Given the description of an element on the screen output the (x, y) to click on. 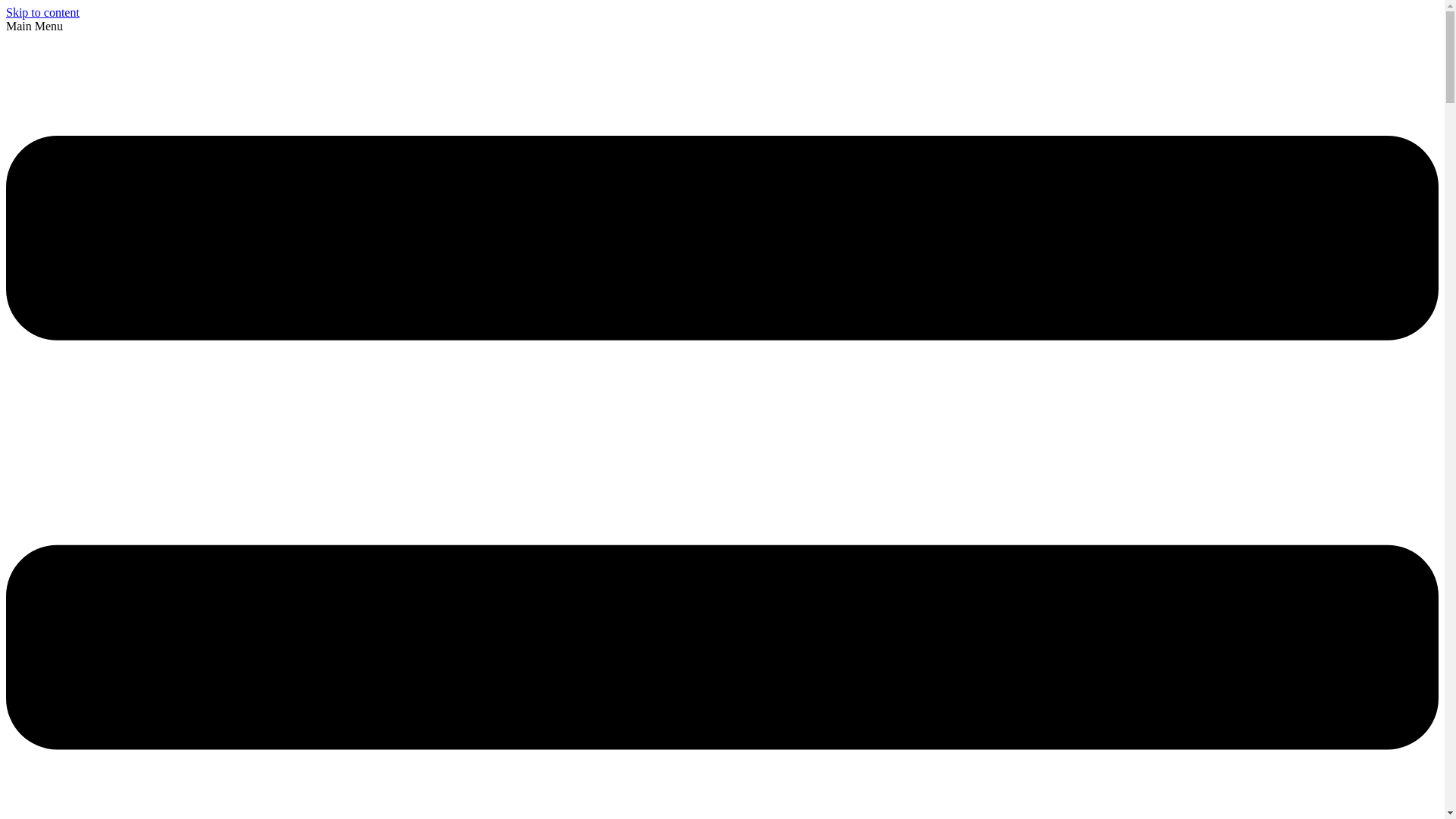
Skip to content (42, 11)
Skip to content (42, 11)
